Given the description of an element on the screen output the (x, y) to click on. 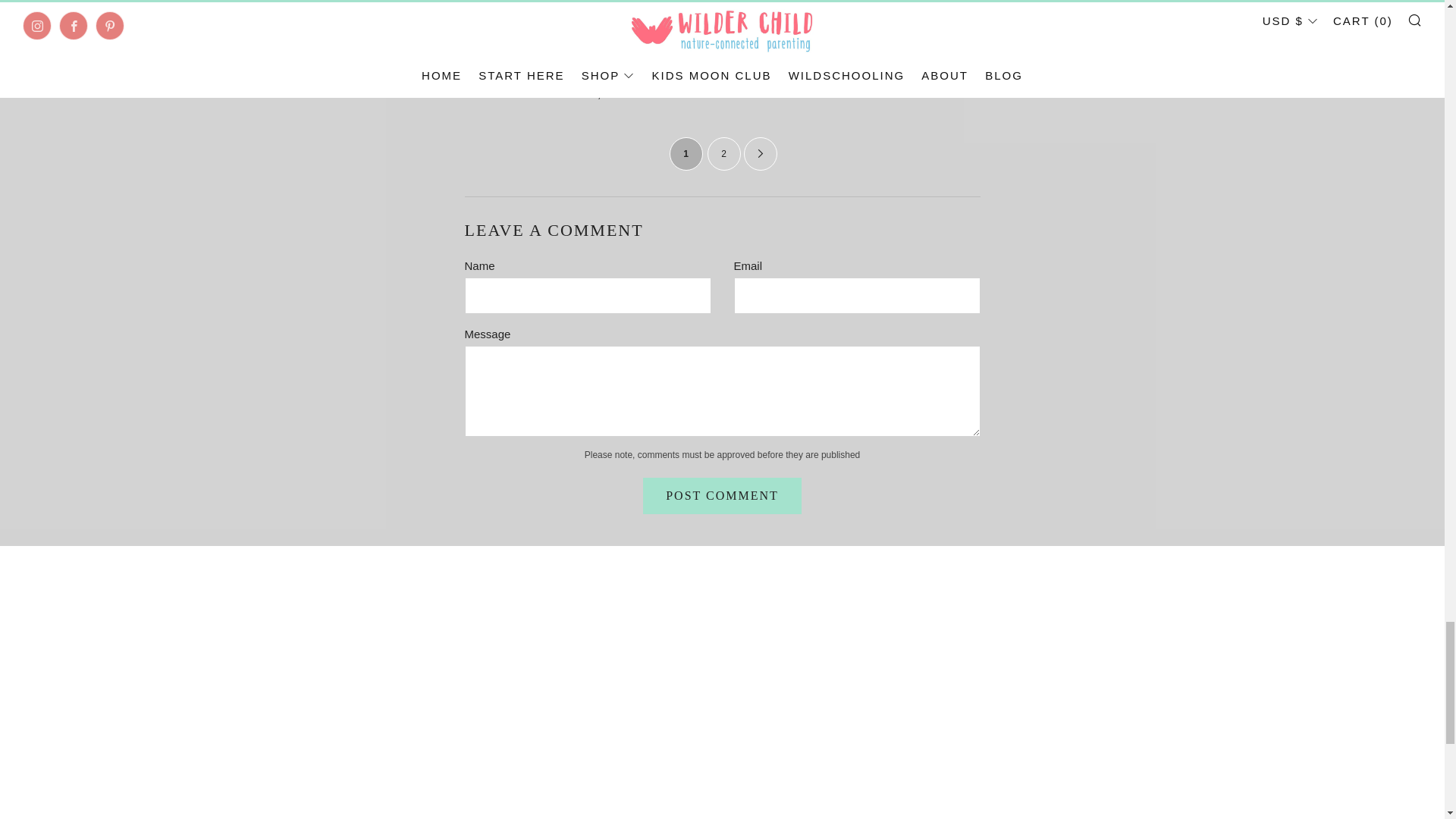
Post comment (722, 495)
